Given the description of an element on the screen output the (x, y) to click on. 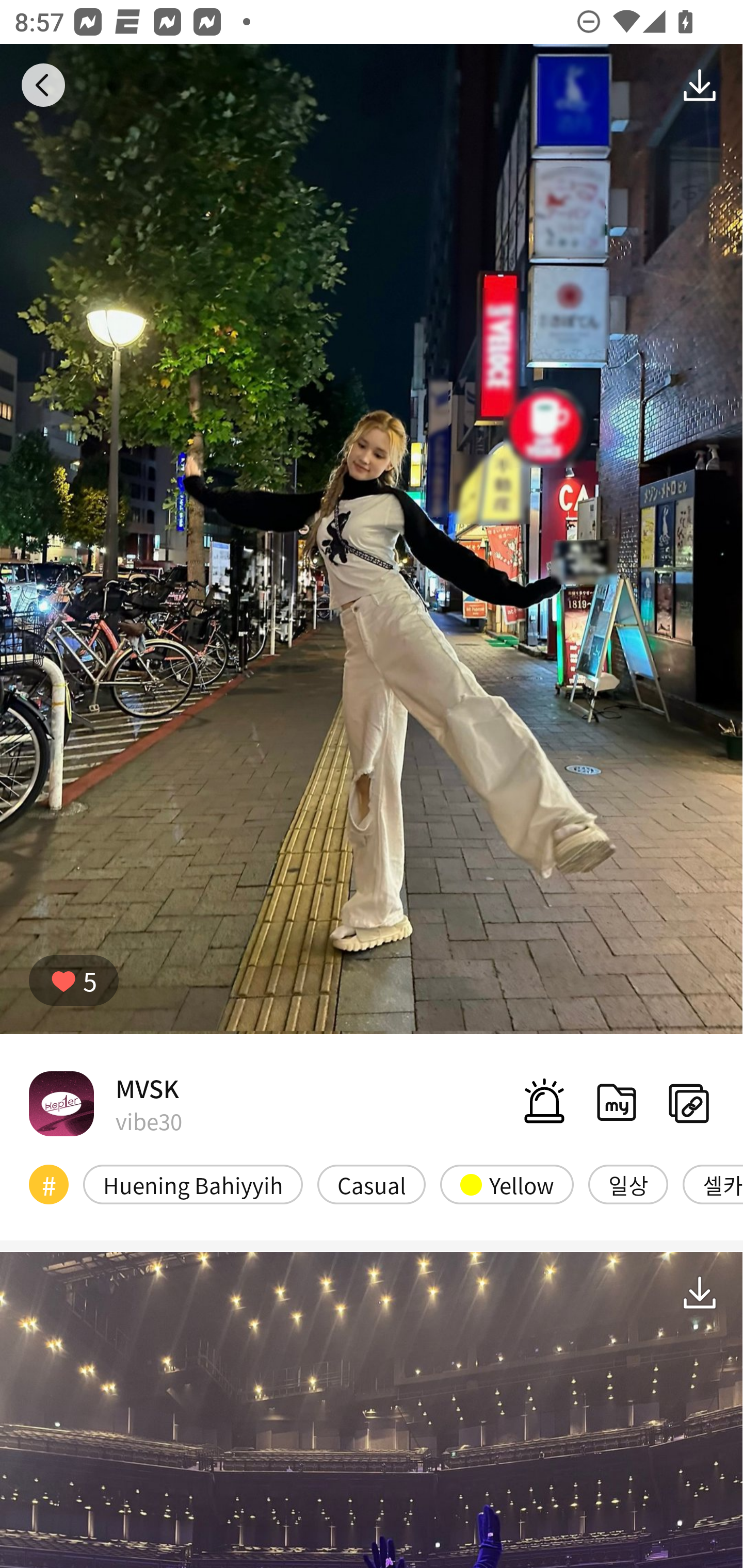
5 (73, 980)
MVSK vibe30 (105, 1102)
Huening Bahiyyih (193, 1184)
Casual (371, 1184)
Yellow (506, 1184)
일상 (627, 1184)
셀카 (712, 1184)
